Given the description of an element on the screen output the (x, y) to click on. 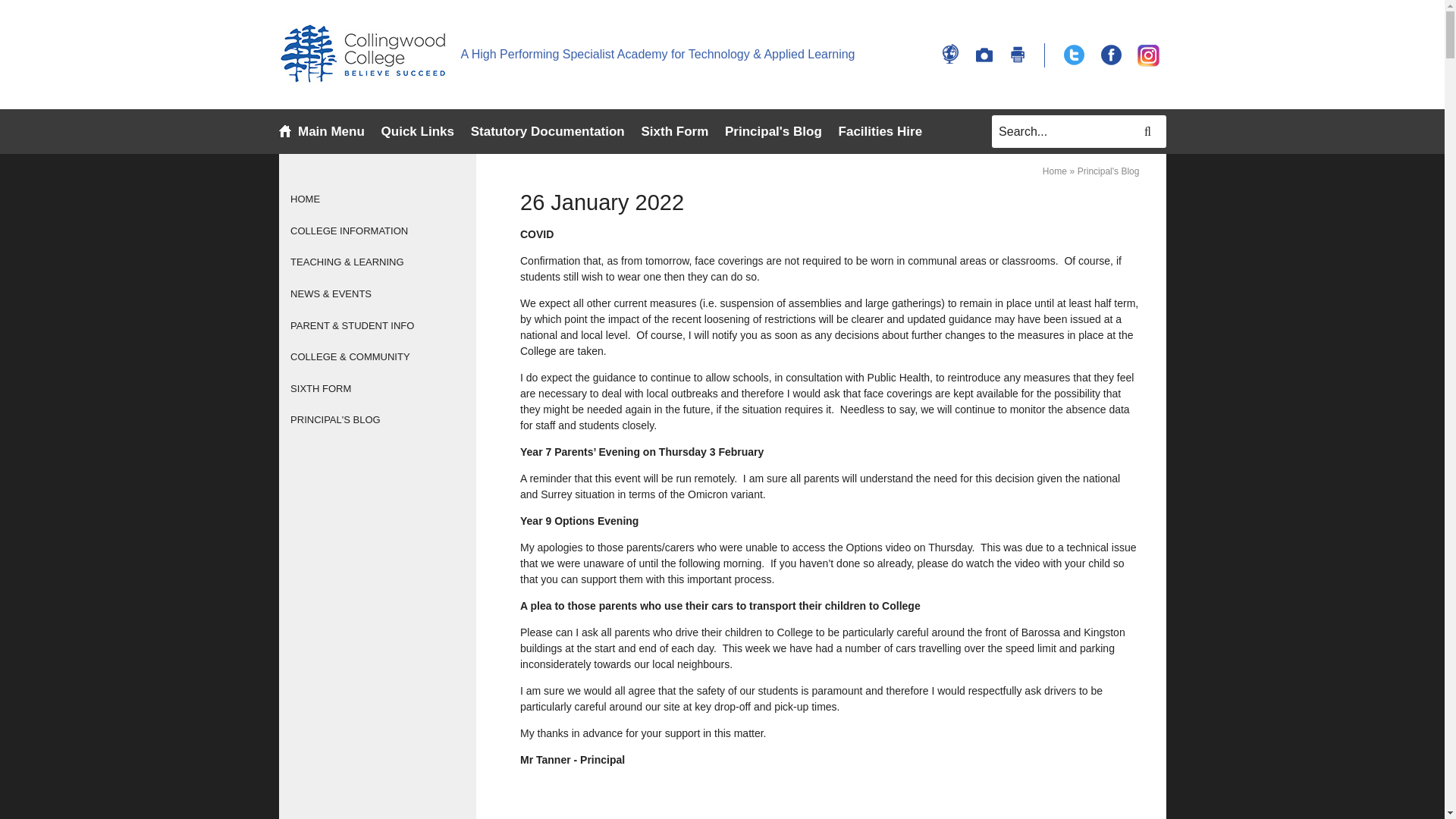
Search... (1078, 131)
Quick Links (417, 131)
Facilities Hire (880, 131)
Sixth Form (673, 131)
Statutory Documentation (547, 131)
Instagram (1148, 54)
Principal's Blog (773, 131)
search... (1078, 131)
Main Menu (331, 131)
Facebook (1110, 54)
Facilities Hire (880, 131)
Twitter (1074, 54)
Statutory Documentation (547, 131)
Search... (1078, 131)
Principal's Blog (773, 131)
